Given the description of an element on the screen output the (x, y) to click on. 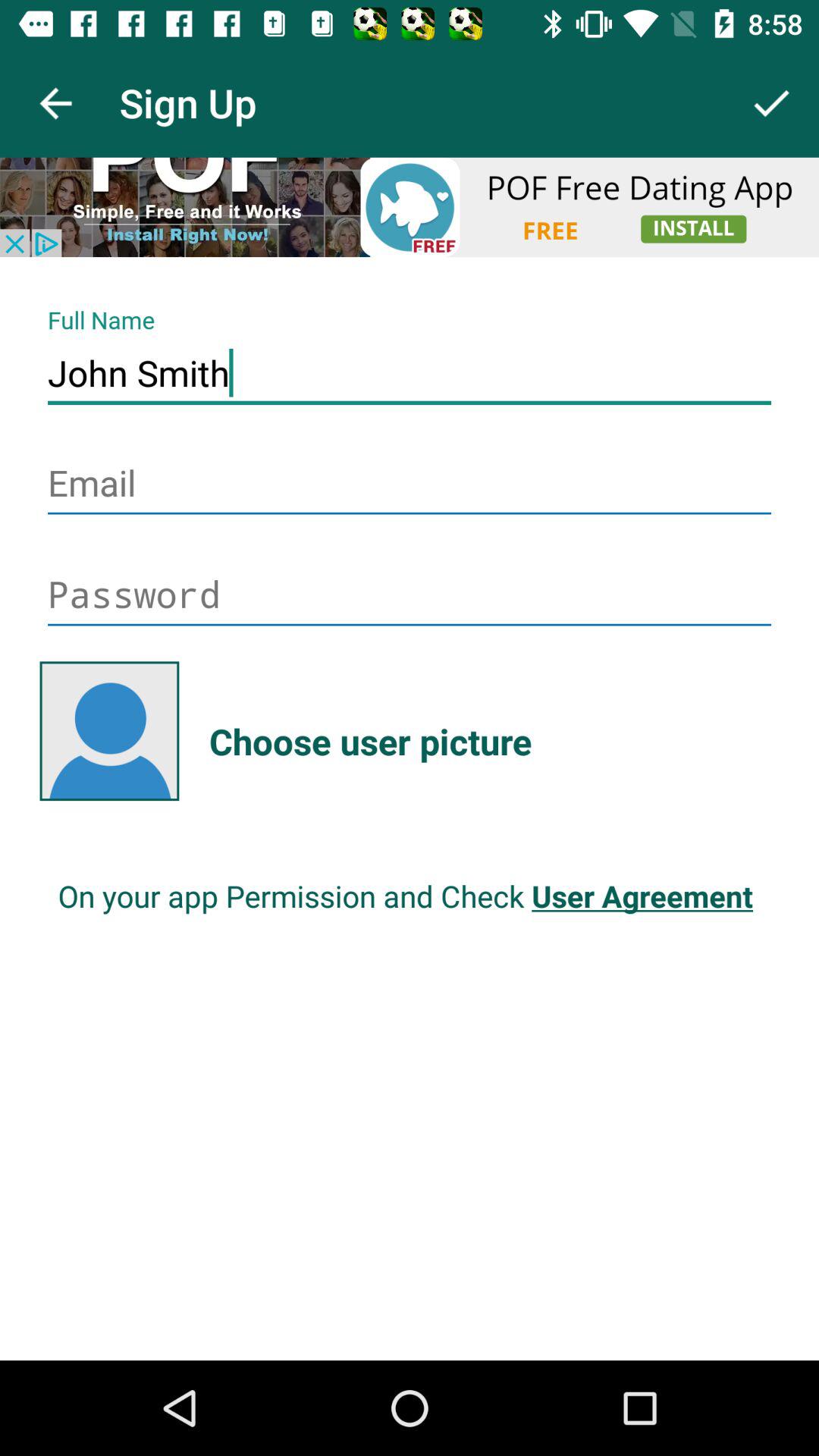
profile details (409, 207)
